Given the description of an element on the screen output the (x, y) to click on. 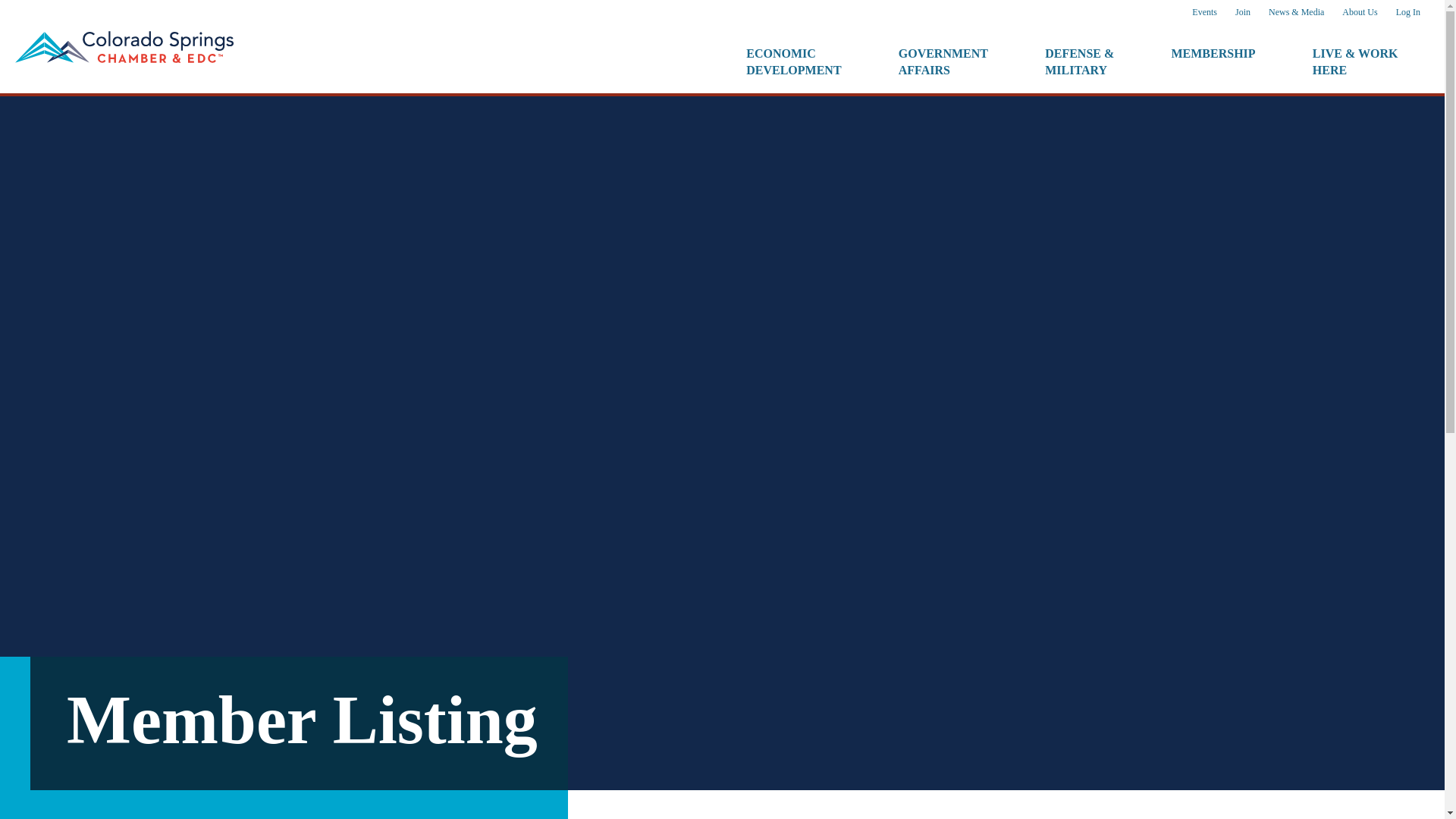
Events (1203, 12)
Log In (1408, 12)
Join (1242, 12)
MEMBERSHIP (942, 61)
About Us (1213, 61)
